Given the description of an element on the screen output the (x, y) to click on. 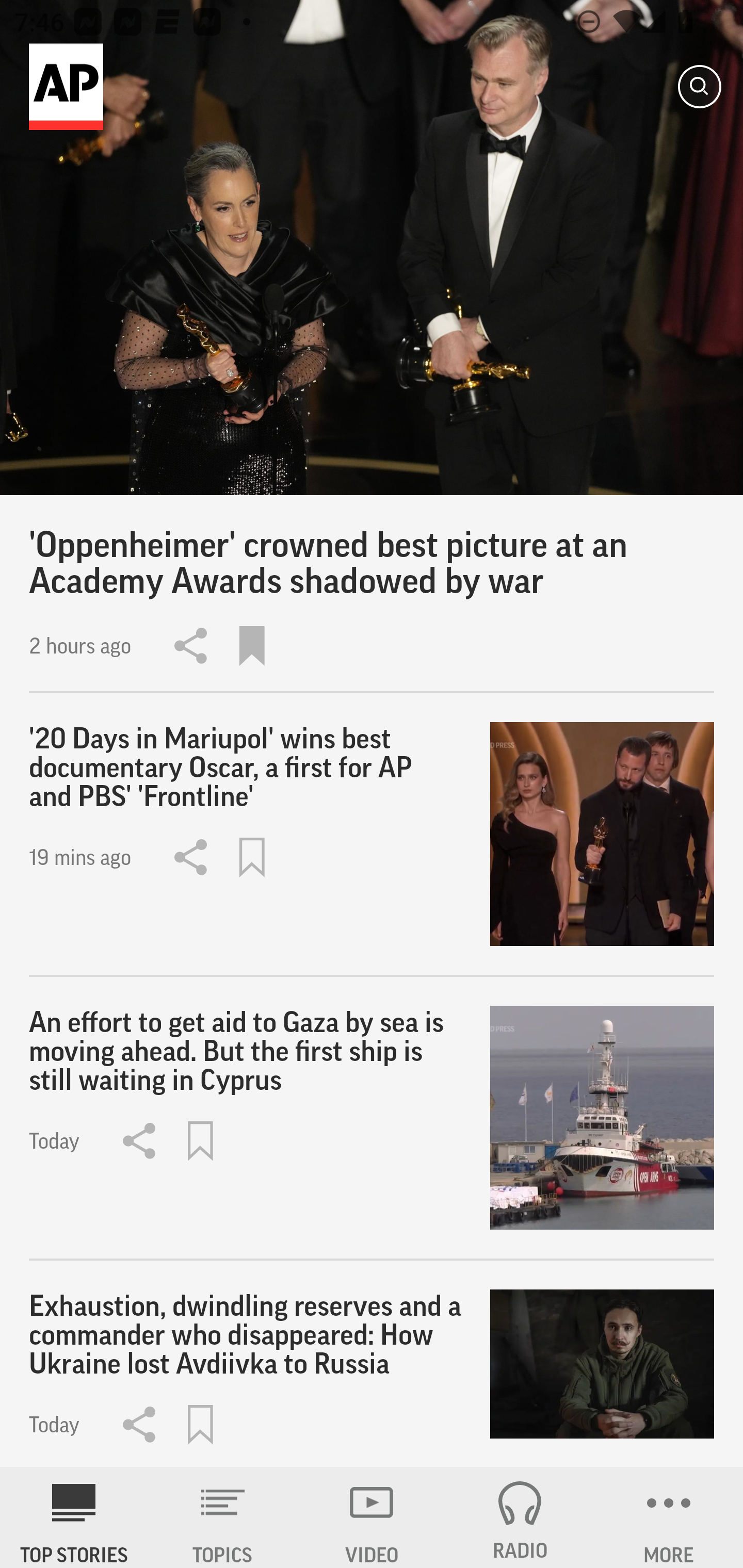
AP News TOP STORIES (74, 1517)
TOPICS (222, 1517)
VIDEO (371, 1517)
RADIO (519, 1517)
MORE (668, 1517)
